Given the description of an element on the screen output the (x, y) to click on. 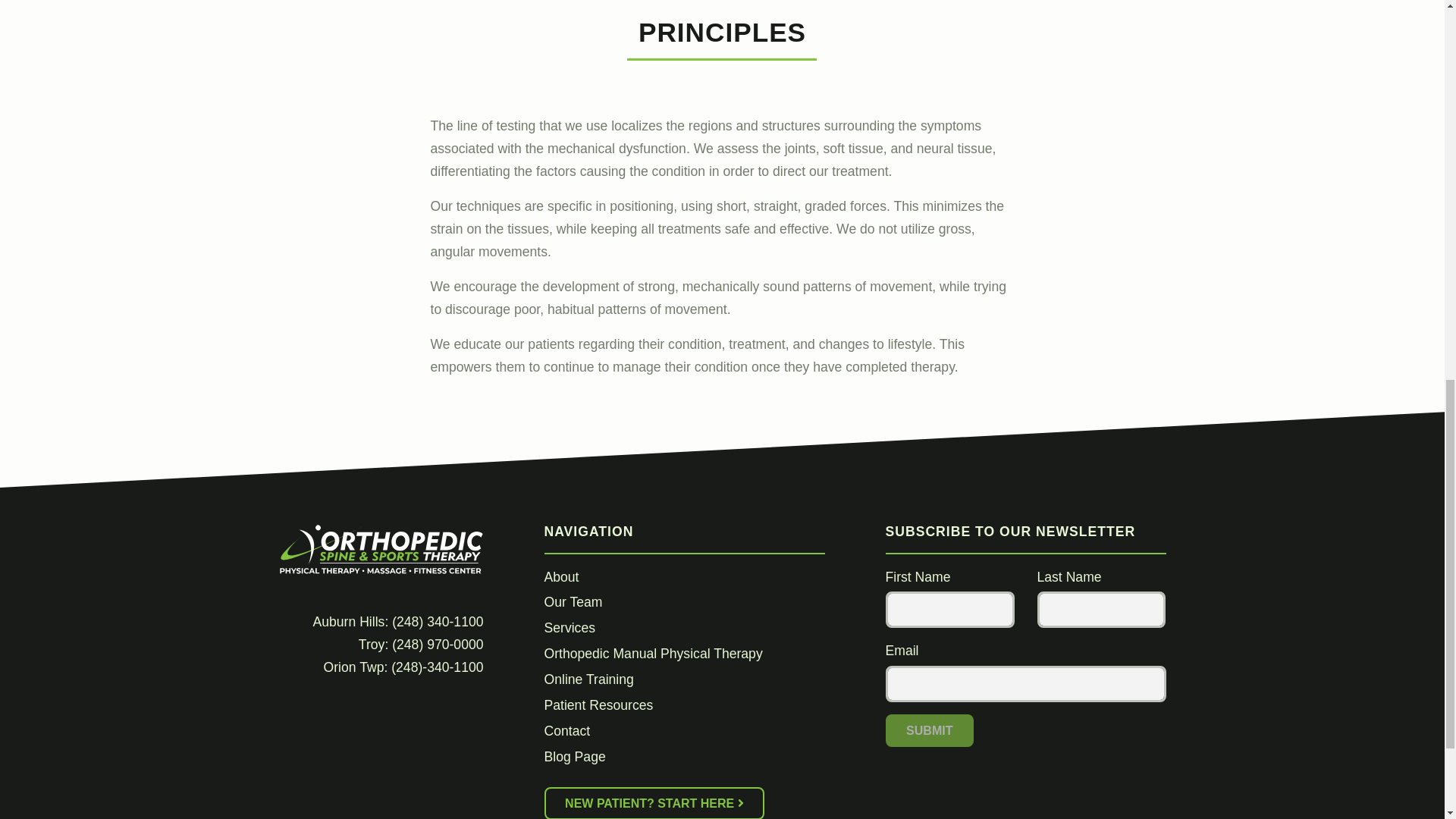
Online Training (588, 679)
SUBMIT (929, 730)
Orthopedic Manual Physical Therapy (653, 653)
Patient Resources (598, 704)
Contact (567, 730)
Services (569, 627)
About (561, 576)
Blog Page (574, 756)
Our Team (573, 601)
NEW PATIENT? START HERE (654, 803)
